Given the description of an element on the screen output the (x, y) to click on. 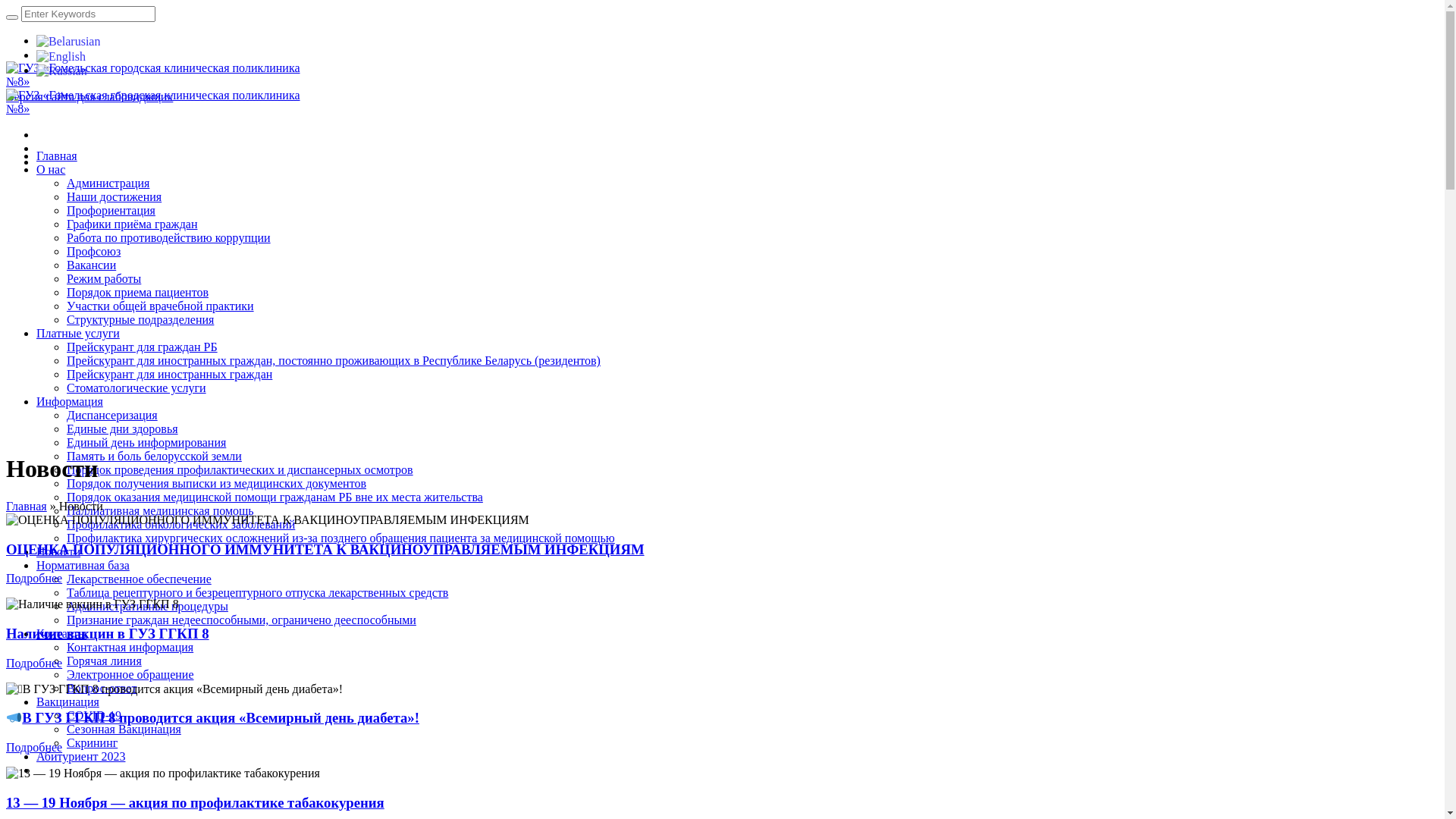
English Element type: hover (60, 54)
COVID-19 Element type: text (93, 715)
Belarusian Element type: hover (68, 40)
Russian Element type: hover (61, 69)
